Given the description of an element on the screen output the (x, y) to click on. 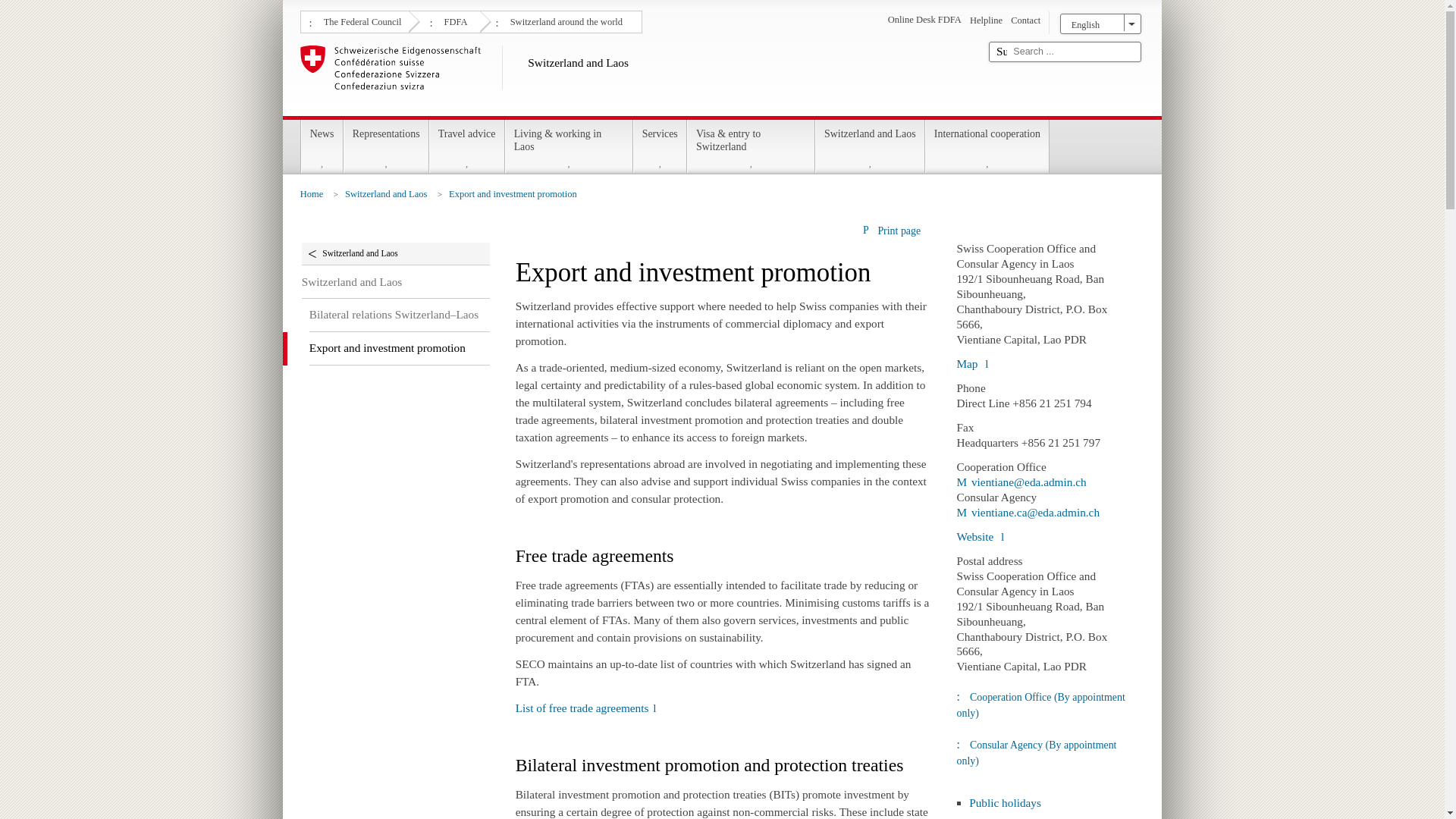
FDFA (454, 20)
Submit (1001, 51)
External Link (1021, 481)
External Link (1027, 512)
Switzerland and Laos (637, 76)
External Link (980, 535)
The Federal Council (360, 20)
External Link (972, 363)
External Link (585, 707)
Switzerland around the world (564, 20)
